Given the description of an element on the screen output the (x, y) to click on. 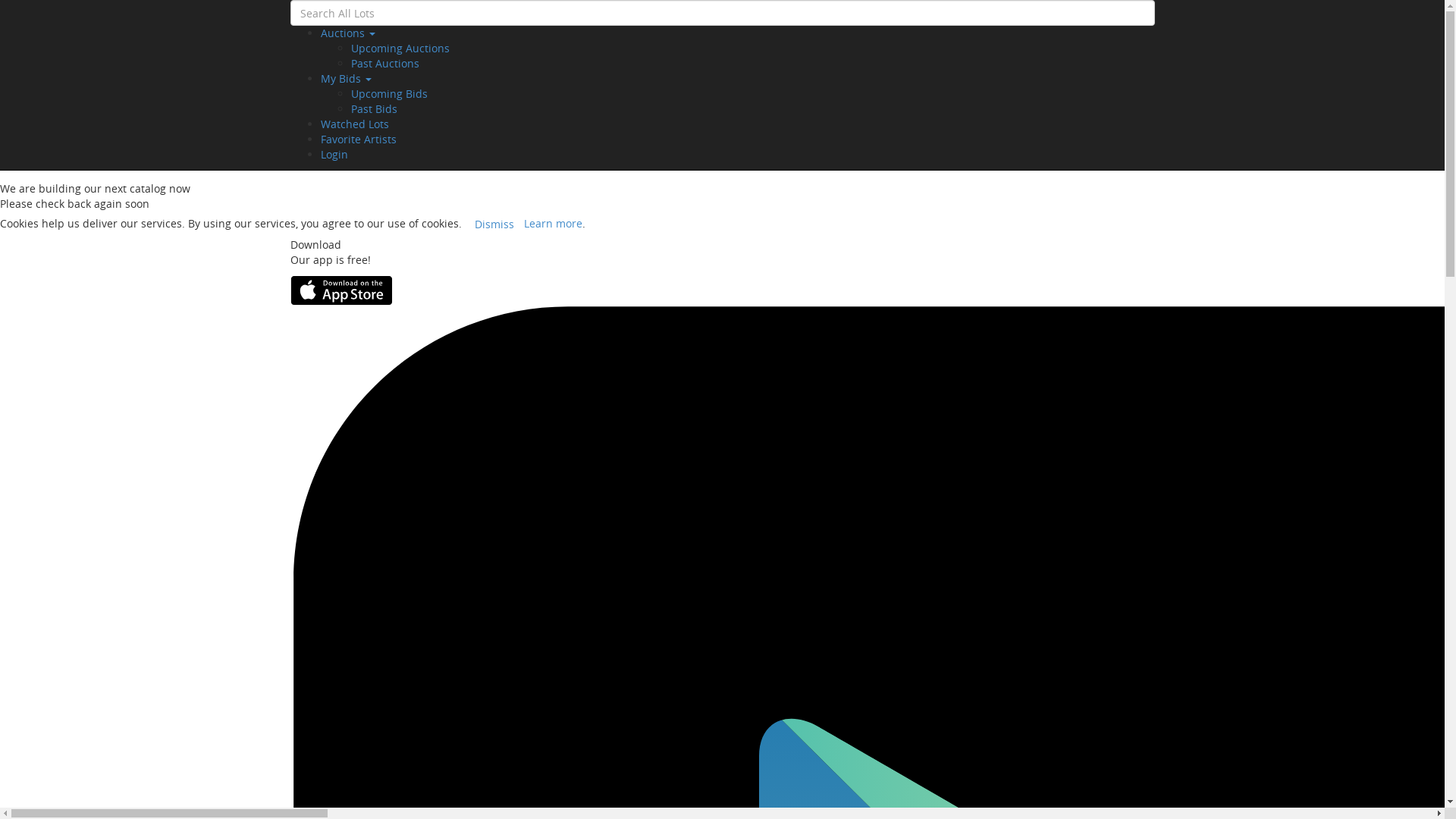
Login Element type: text (333, 154)
Watched Lots Element type: text (354, 123)
Learn more Element type: text (553, 223)
Upcoming Auctions Element type: text (399, 47)
My Bids Element type: text (345, 78)
Favorite Artists Element type: text (357, 138)
Past Bids Element type: text (373, 108)
Upcoming Bids Element type: text (388, 93)
AKC.ORG.AU Element type: text (372, 7)
Auctions Element type: text (347, 32)
Past Auctions Element type: text (384, 63)
Go Element type: text (29, 68)
Dismiss Element type: text (494, 224)
